Given the description of an element on the screen output the (x, y) to click on. 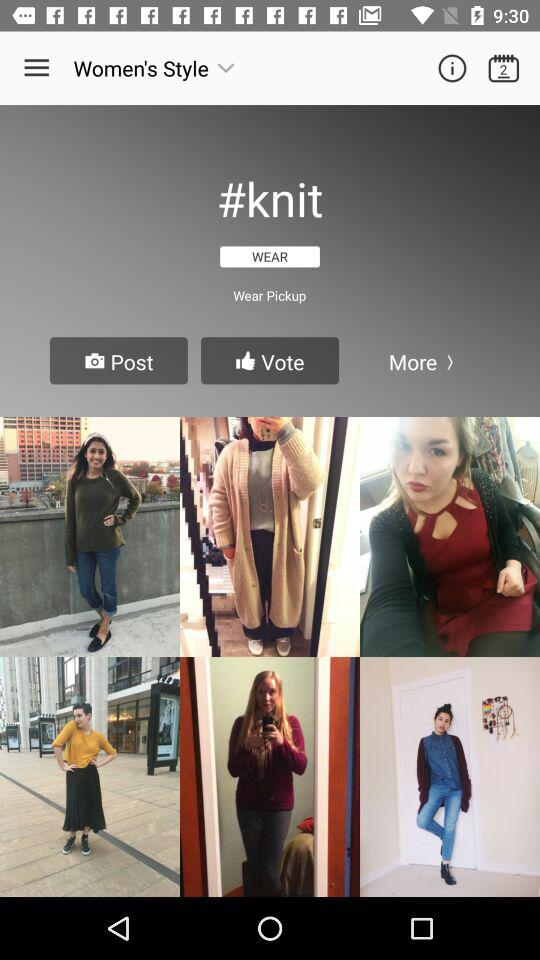
toggle calendar option (503, 68)
